Given the description of an element on the screen output the (x, y) to click on. 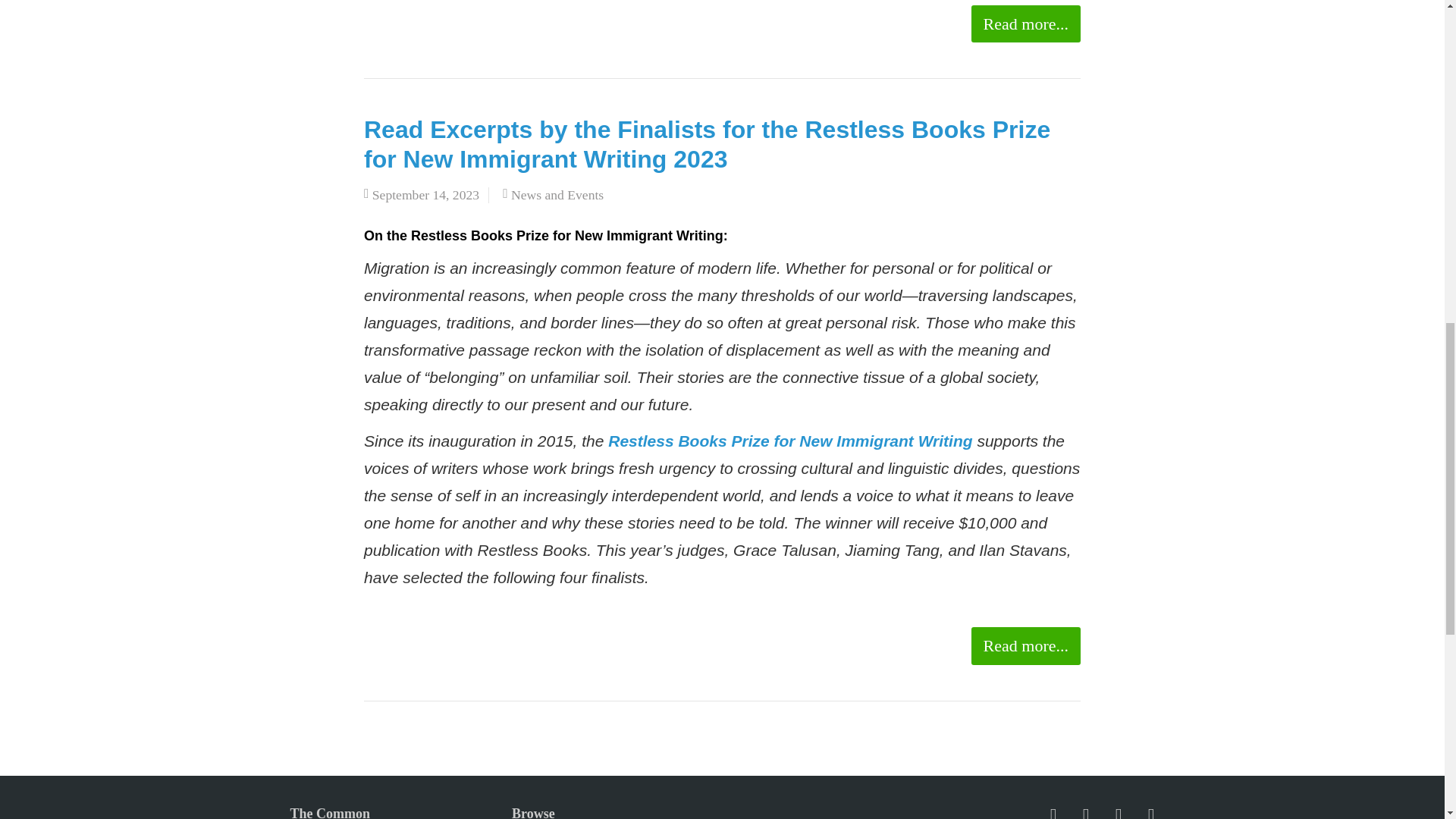
Restless Books Prize for New Immigrant Writing (790, 440)
News and Events (557, 194)
Read more... (1025, 646)
Read more... (1025, 23)
